Given the description of an element on the screen output the (x, y) to click on. 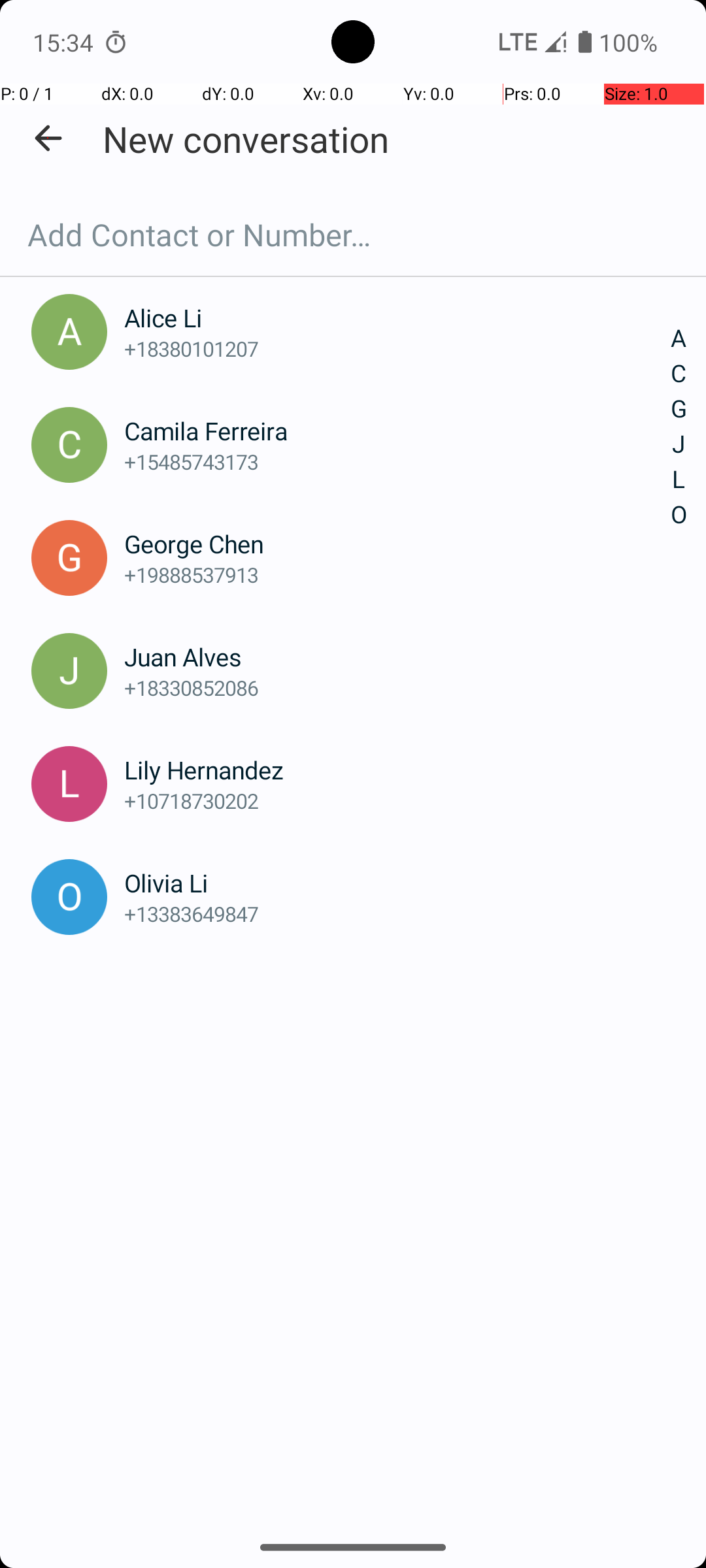
A
C
G
J
L
O Element type: android.widget.TextView (678, 426)
Alice Li Element type: android.widget.TextView (397, 317)
+18380101207 Element type: android.widget.TextView (397, 348)
Camila Ferreira Element type: android.widget.TextView (397, 430)
+15485743173 Element type: android.widget.TextView (397, 461)
George Chen Element type: android.widget.TextView (397, 543)
+19888537913 Element type: android.widget.TextView (397, 574)
Juan Alves Element type: android.widget.TextView (397, 656)
+18330852086 Element type: android.widget.TextView (397, 687)
Lily Hernandez Element type: android.widget.TextView (397, 769)
+10718730202 Element type: android.widget.TextView (397, 800)
Olivia Li Element type: android.widget.TextView (397, 882)
+13383649847 Element type: android.widget.TextView (397, 913)
